Given the description of an element on the screen output the (x, y) to click on. 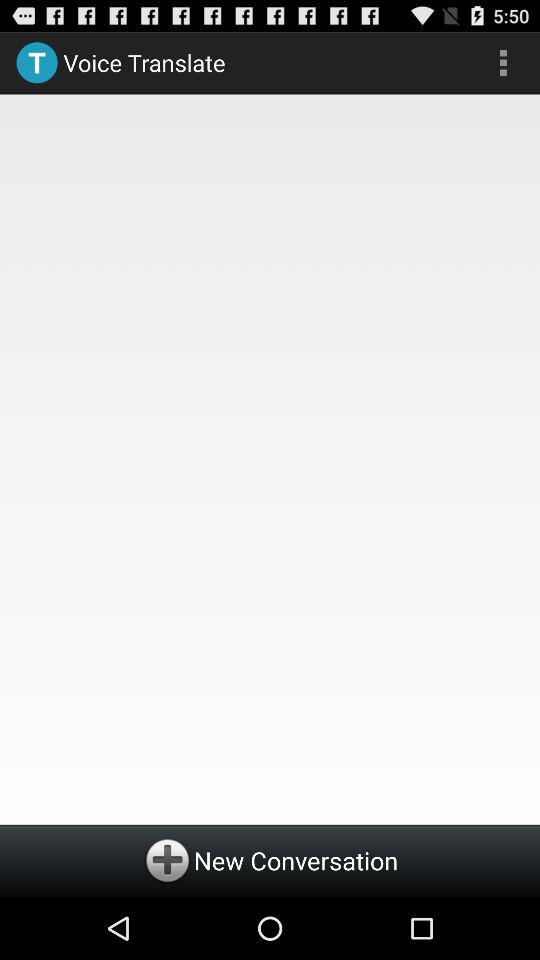
press the item at the center (270, 455)
